Given the description of an element on the screen output the (x, y) to click on. 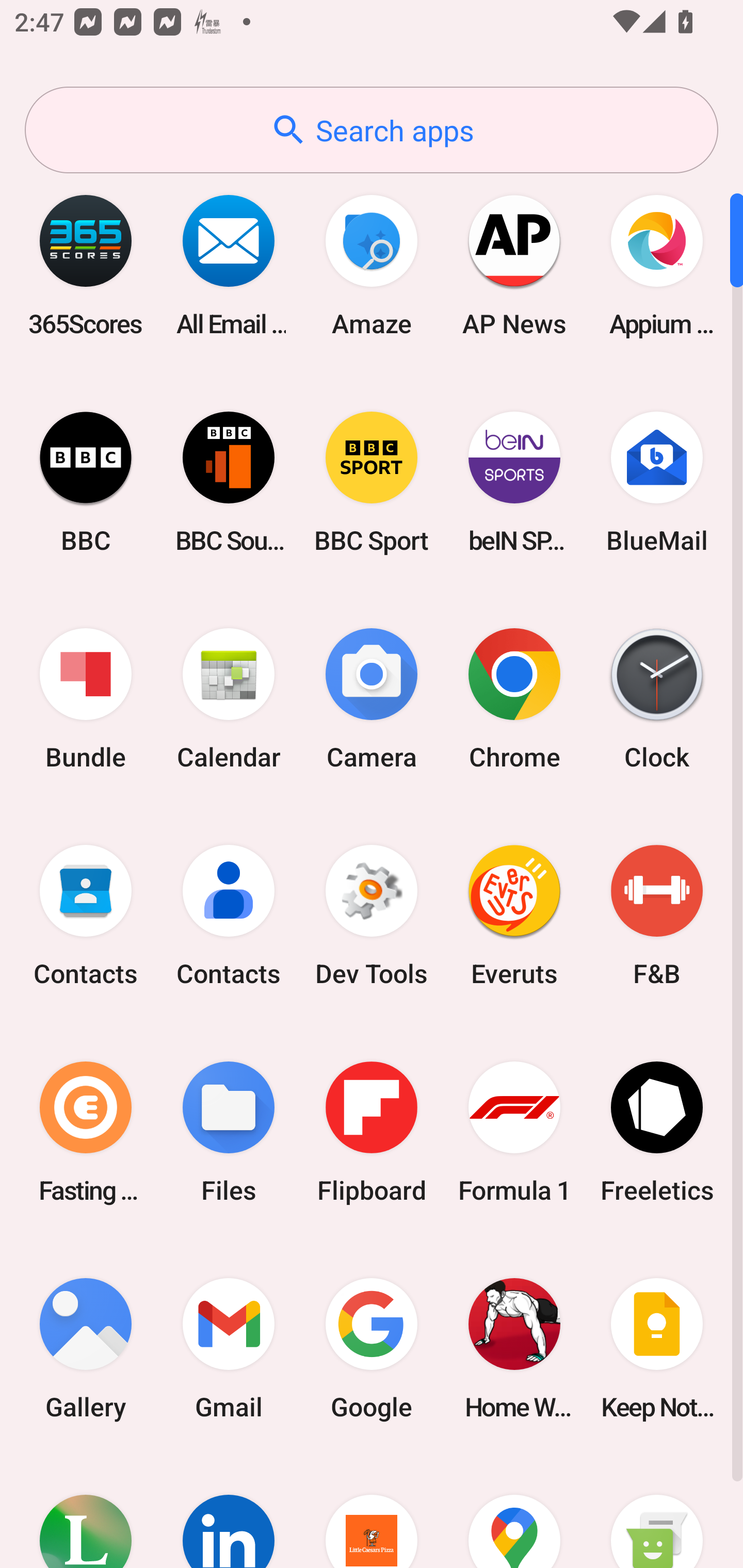
  Search apps (371, 130)
365Scores (85, 264)
All Email Connect (228, 264)
Amaze (371, 264)
AP News (514, 264)
Appium Settings (656, 264)
BBC (85, 482)
BBC Sounds (228, 482)
BBC Sport (371, 482)
beIN SPORTS (514, 482)
BlueMail (656, 482)
Bundle (85, 699)
Calendar (228, 699)
Camera (371, 699)
Chrome (514, 699)
Clock (656, 699)
Contacts (85, 915)
Contacts (228, 915)
Dev Tools (371, 915)
Everuts (514, 915)
F&B (656, 915)
Fasting Coach (85, 1131)
Files (228, 1131)
Flipboard (371, 1131)
Formula 1 (514, 1131)
Freeletics (656, 1131)
Gallery (85, 1348)
Gmail (228, 1348)
Google (371, 1348)
Home Workout (514, 1348)
Keep Notes (656, 1348)
